Given the description of an element on the screen output the (x, y) to click on. 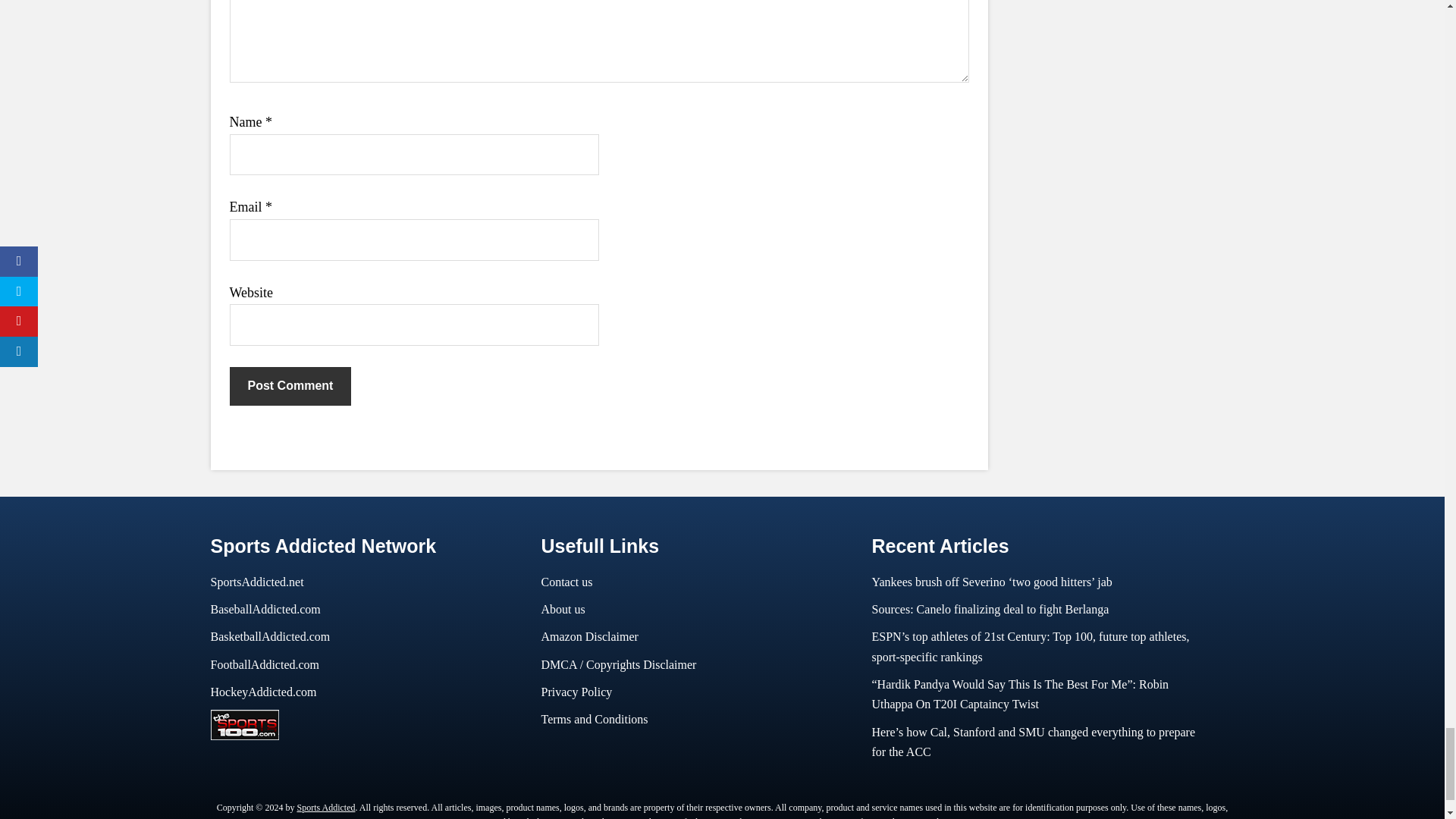
Post Comment (289, 385)
